Given the description of an element on the screen output the (x, y) to click on. 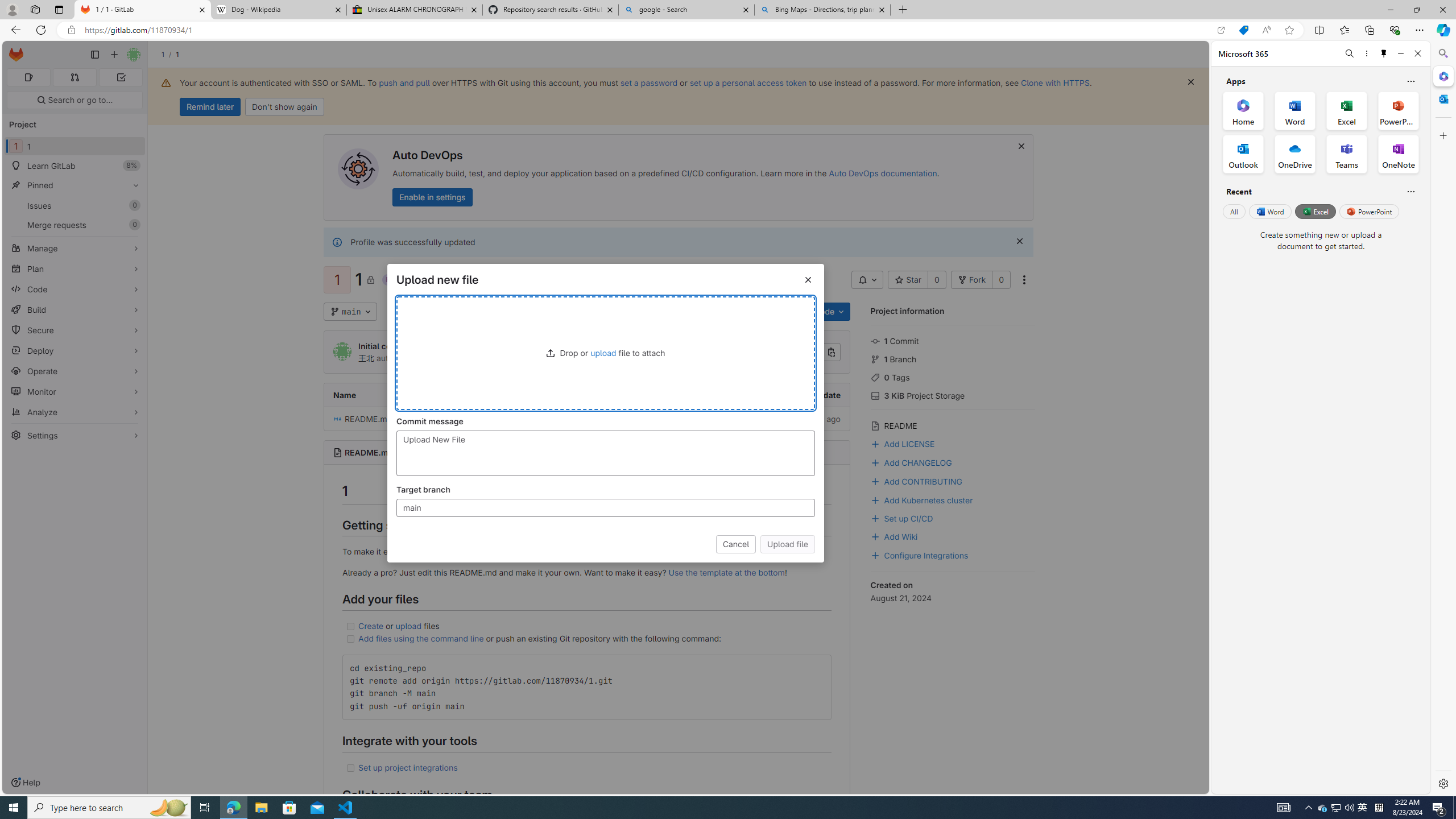
Plan (74, 268)
Issues0 (74, 205)
Add Wiki (952, 535)
All (1233, 210)
Secure (74, 330)
Class: s16 icon (370, 279)
1 Branch (952, 358)
1 Commit (952, 340)
1 day ago (762, 418)
Last commit (586, 395)
